Given the description of an element on the screen output the (x, y) to click on. 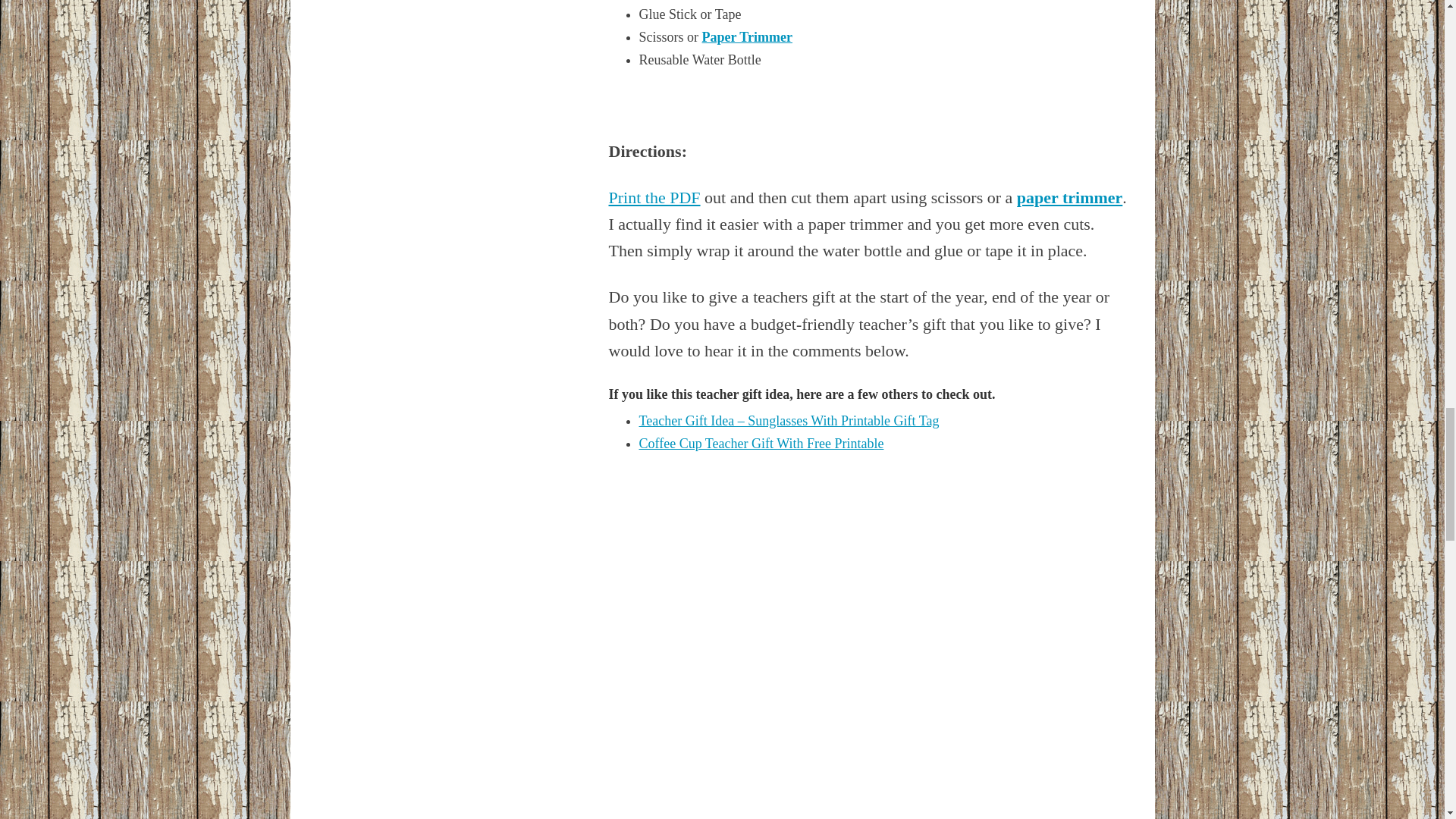
paper trimmer (1069, 197)
Print the PDF (654, 197)
Paper Trimmer (746, 37)
Coffee Cup Teacher Gift With Free Printable (761, 443)
